Given the description of an element on the screen output the (x, y) to click on. 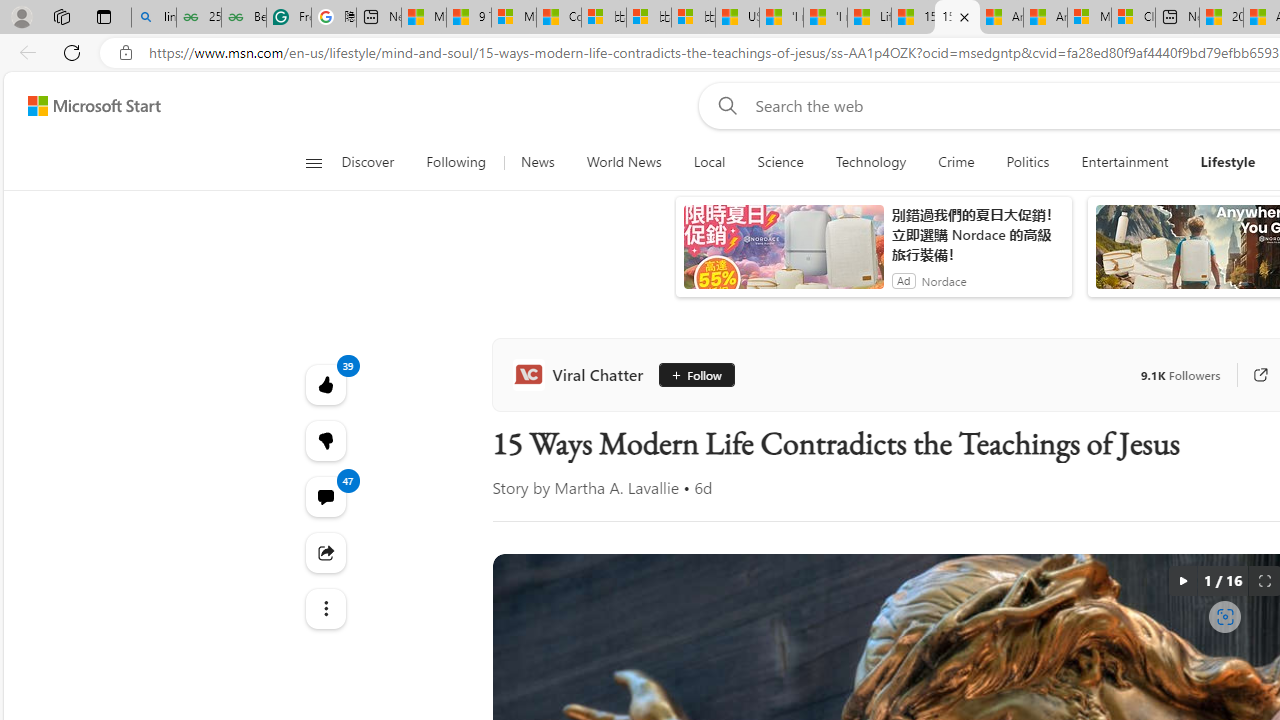
View comments 47 Comment (324, 496)
Technology (870, 162)
Free AI Writing Assistance for Students | Grammarly (289, 17)
Workspaces (61, 16)
Nordace (943, 280)
Best SSL Certificates Provider in India - GeeksforGeeks (243, 17)
Cloud Computing Services | Microsoft Azure (1133, 17)
15 Ways Modern Life Contradicts the Teachings of Jesus (957, 17)
Crime (956, 162)
39 Like (324, 384)
39 (324, 440)
Back (24, 52)
Tab actions menu (104, 16)
Technology (870, 162)
linux basic - Search (153, 17)
